Given the description of an element on the screen output the (x, y) to click on. 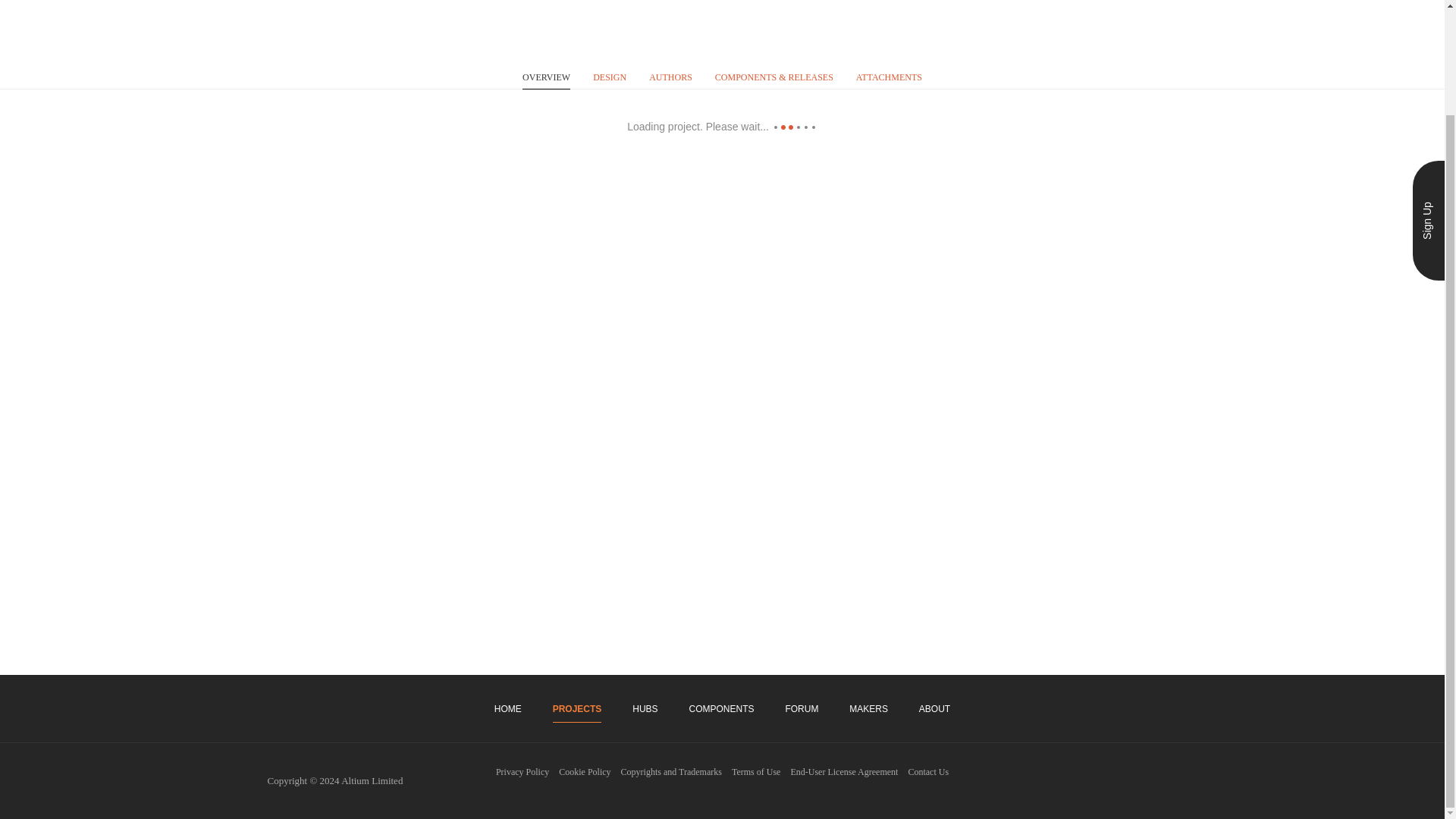
OVERVIEW (546, 76)
AUTHORS (671, 76)
DESIGN (609, 76)
ATTACHMENTS (888, 76)
